Given the description of an element on the screen output the (x, y) to click on. 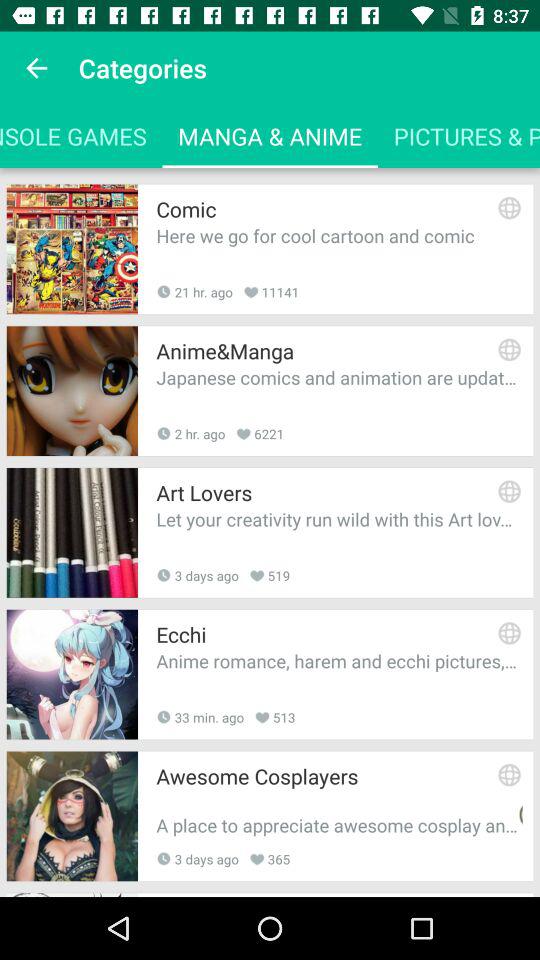
choose app to the left of categories icon (36, 68)
